Given the description of an element on the screen output the (x, y) to click on. 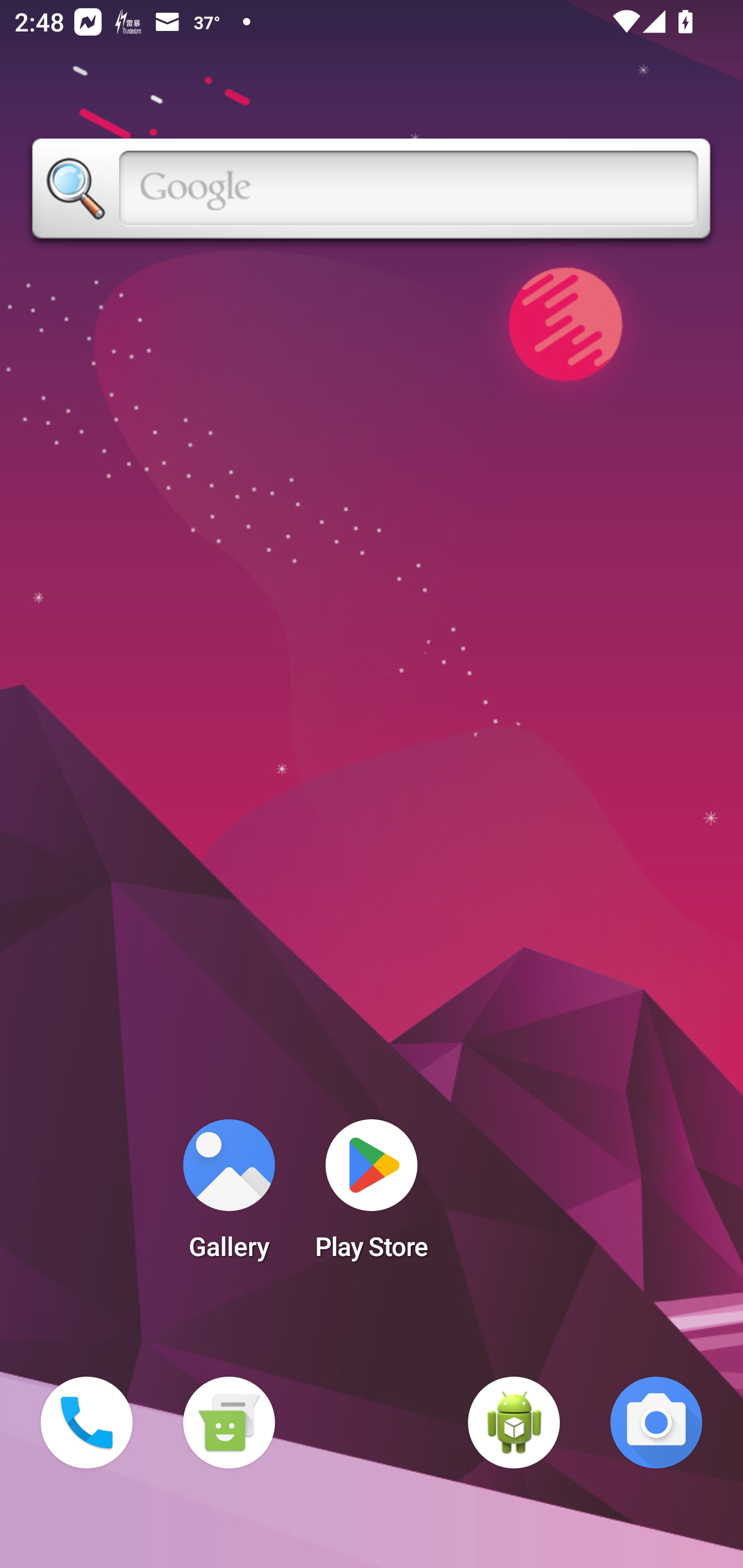
Gallery (228, 1195)
Play Store (371, 1195)
Phone (86, 1422)
Messaging (228, 1422)
WebView Browser Tester (513, 1422)
Camera (656, 1422)
